Given the description of an element on the screen output the (x, y) to click on. 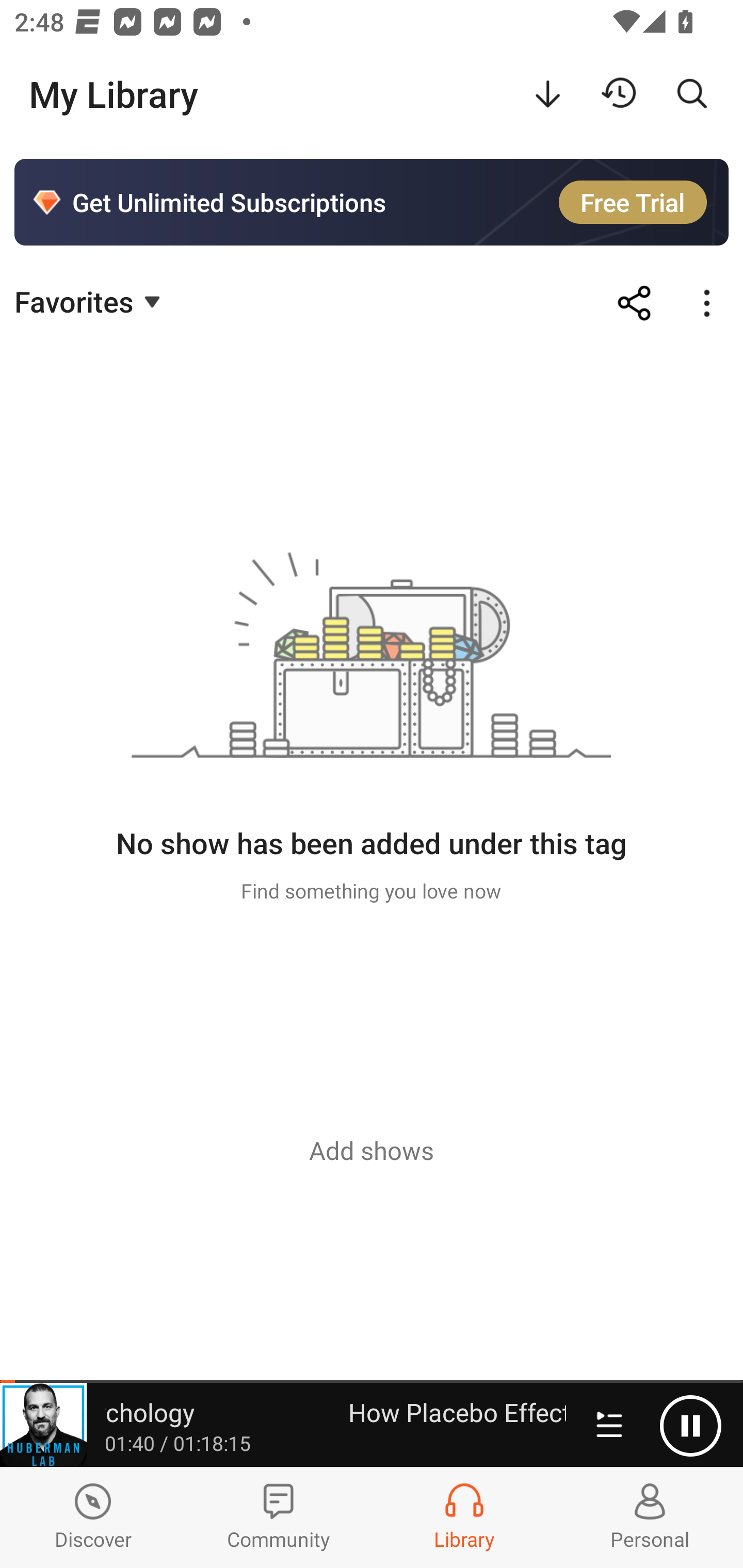
Get Unlimited Subscriptions Free Trial (371, 202)
Free Trial (632, 202)
Favorites (90, 300)
Add shows (371, 1150)
Pause (690, 1425)
Discover (92, 1517)
Community (278, 1517)
Library (464, 1517)
Profiles and Settings Personal (650, 1517)
